Given the description of an element on the screen output the (x, y) to click on. 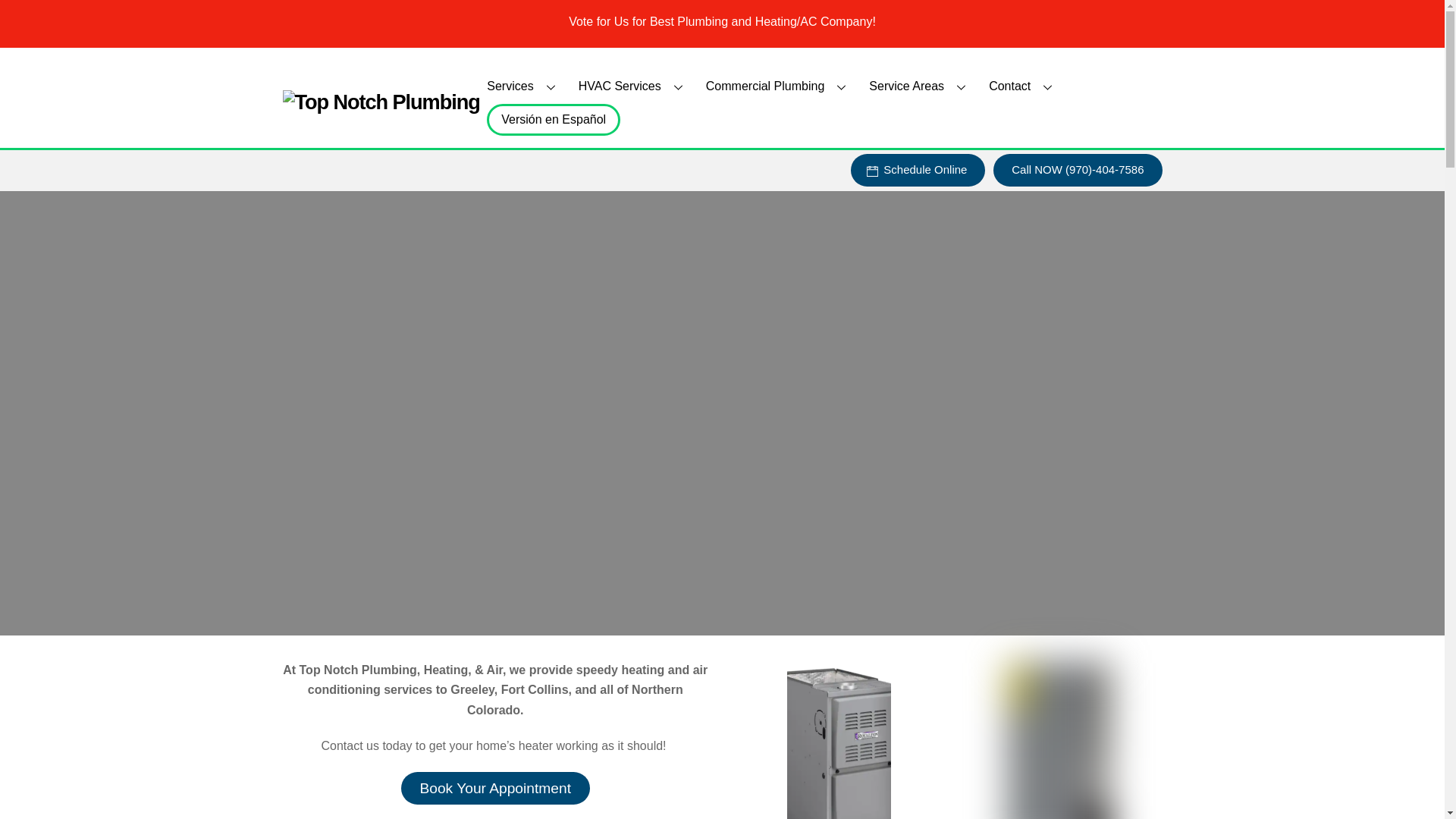
Services (523, 86)
Top Notch Plumbing (380, 101)
Commercial Plumbing (778, 86)
Service Areas (919, 86)
Contact (1023, 86)
HVAC Services (632, 86)
